Given the description of an element on the screen output the (x, y) to click on. 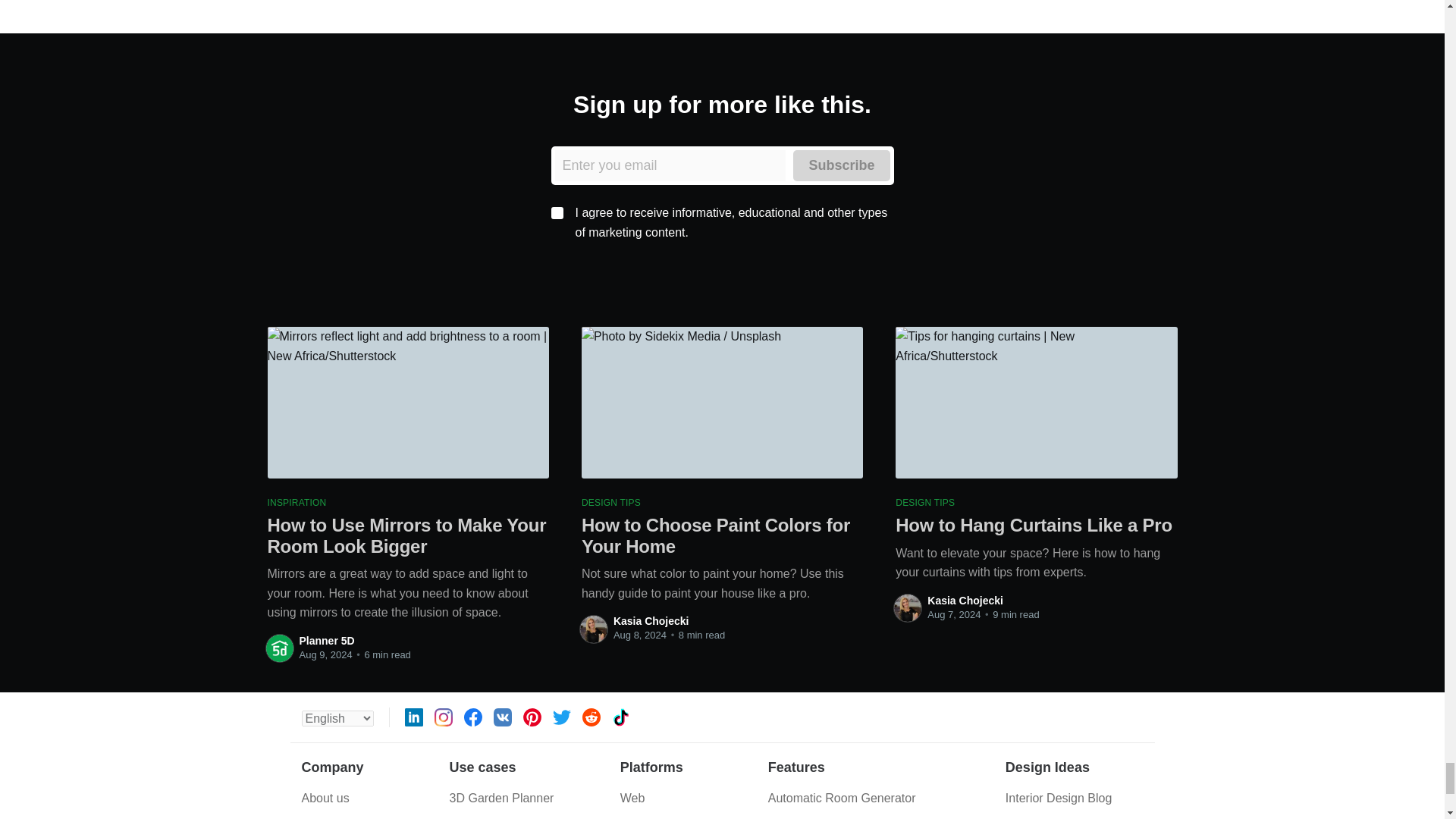
Kasia Chojecki (650, 621)
Subscribe (841, 164)
Planner 5D (325, 640)
Subscribe (841, 164)
